Given the description of an element on the screen output the (x, y) to click on. 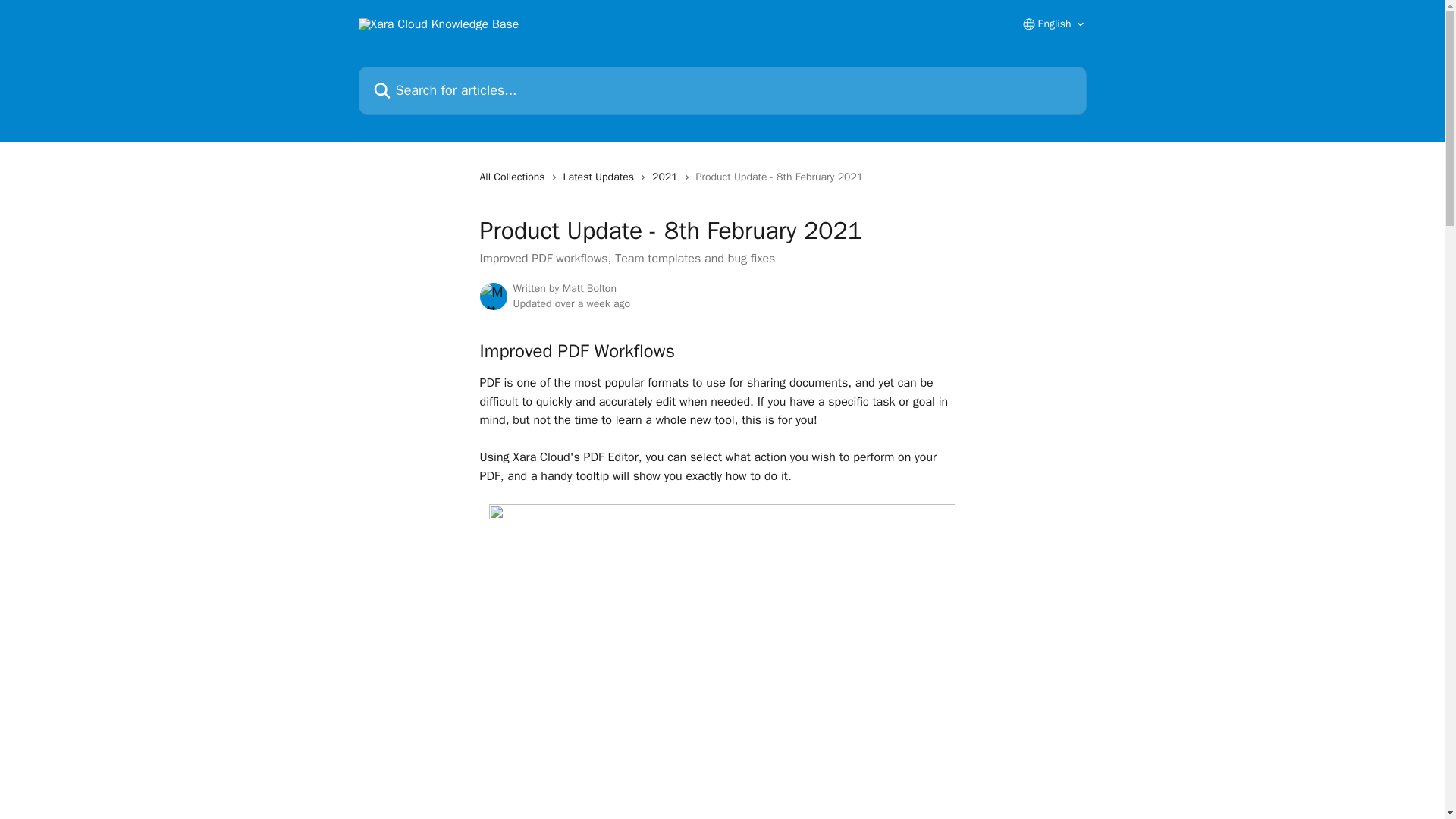
Latest Updates (601, 176)
All Collections (514, 176)
2021 (668, 176)
